Given the description of an element on the screen output the (x, y) to click on. 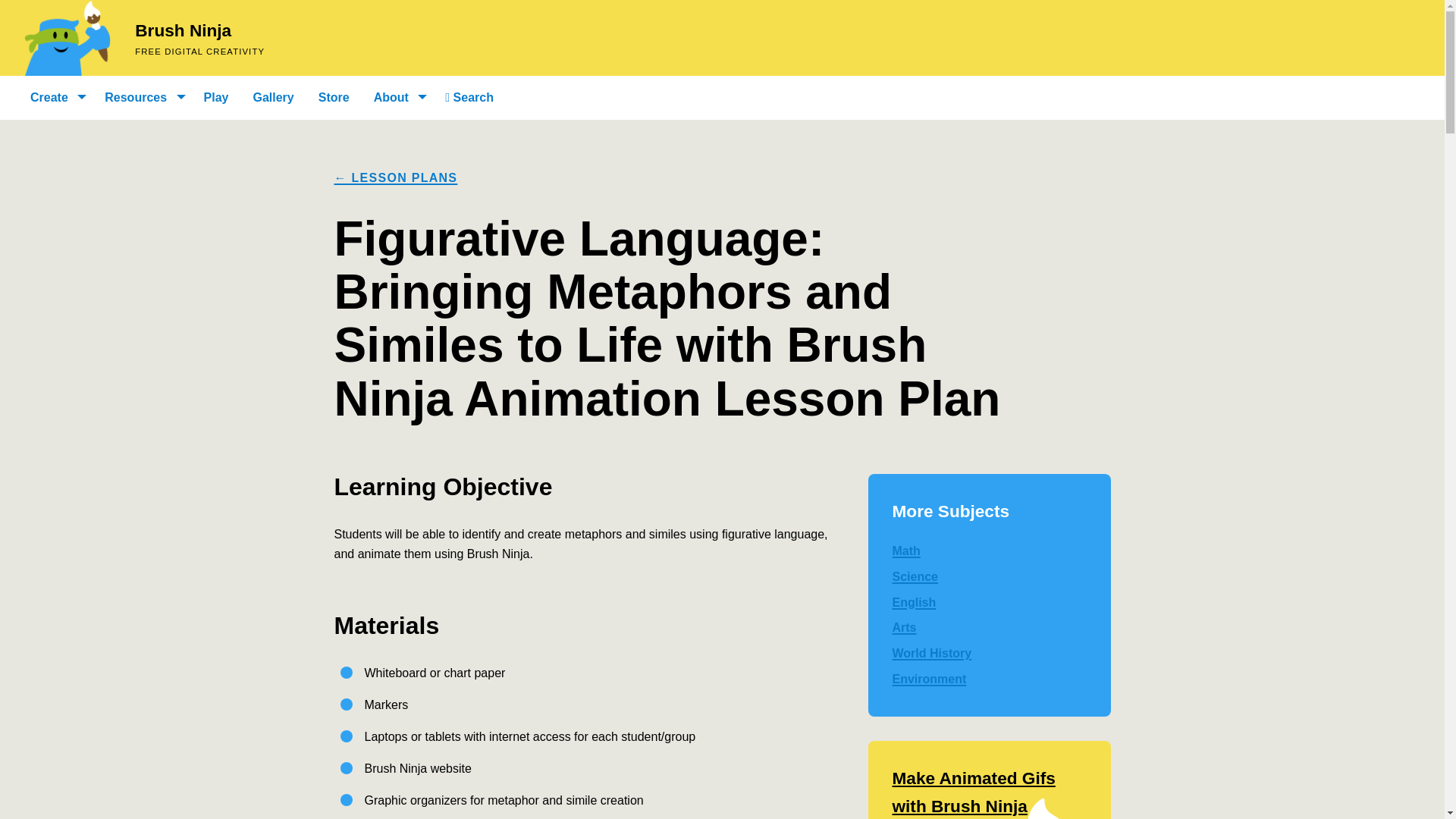
Play fun games (216, 97)
Brush Ninja (183, 30)
World History Lesson Plans (988, 653)
Resources (141, 97)
Back to Lesson Plans (395, 177)
About (398, 97)
Search Brush Ninja (469, 97)
Science Lesson Plans (988, 576)
Store (334, 97)
Brush Ninja home (67, 38)
English Lesson Plans (988, 602)
Math Lesson Plans (988, 551)
Environment Lesson Plans (988, 679)
Arts Lesson Plans (988, 627)
Create (54, 97)
